Given the description of an element on the screen output the (x, y) to click on. 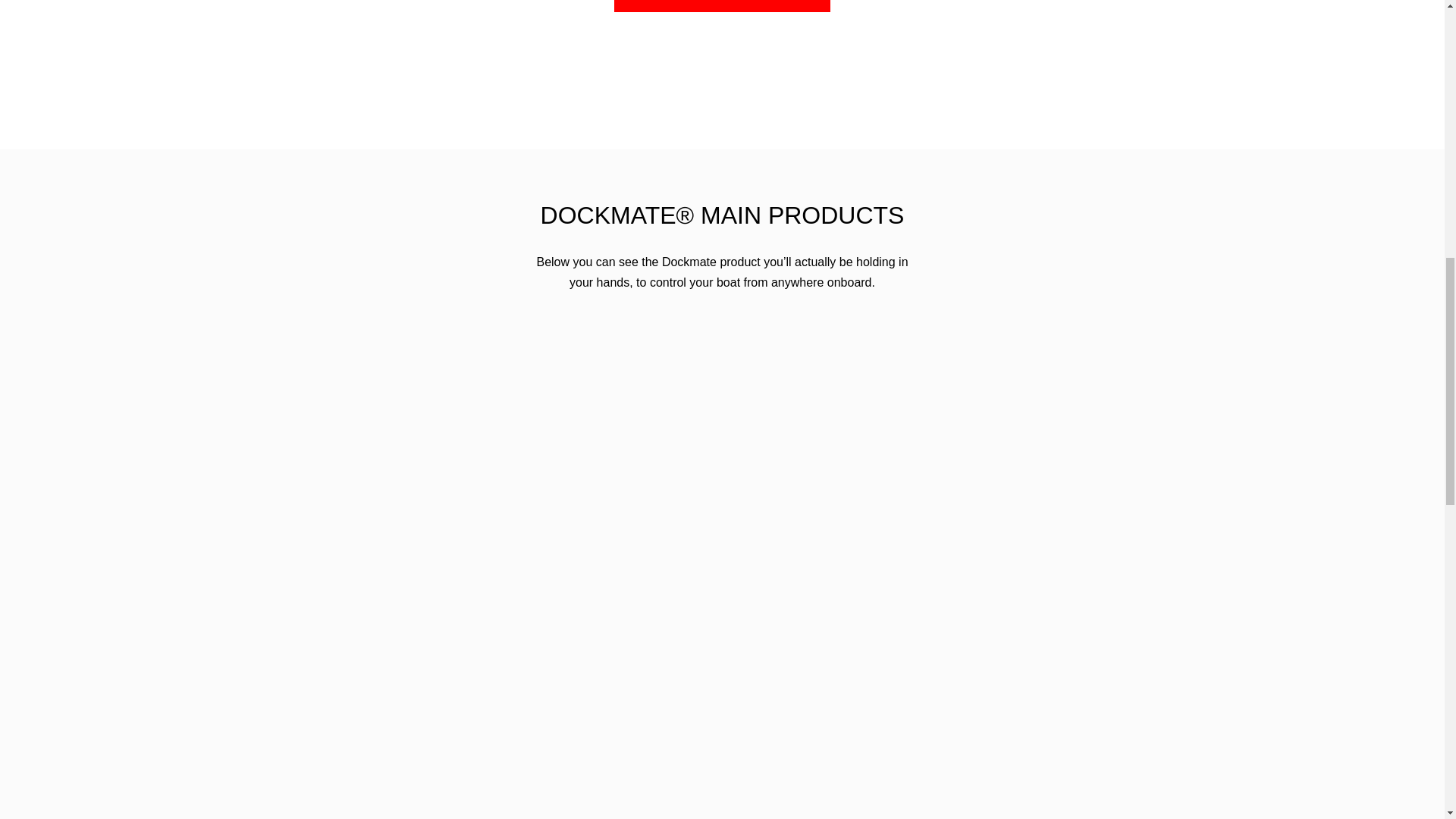
GET IN CONTACT WITH US (721, 6)
